Given the description of an element on the screen output the (x, y) to click on. 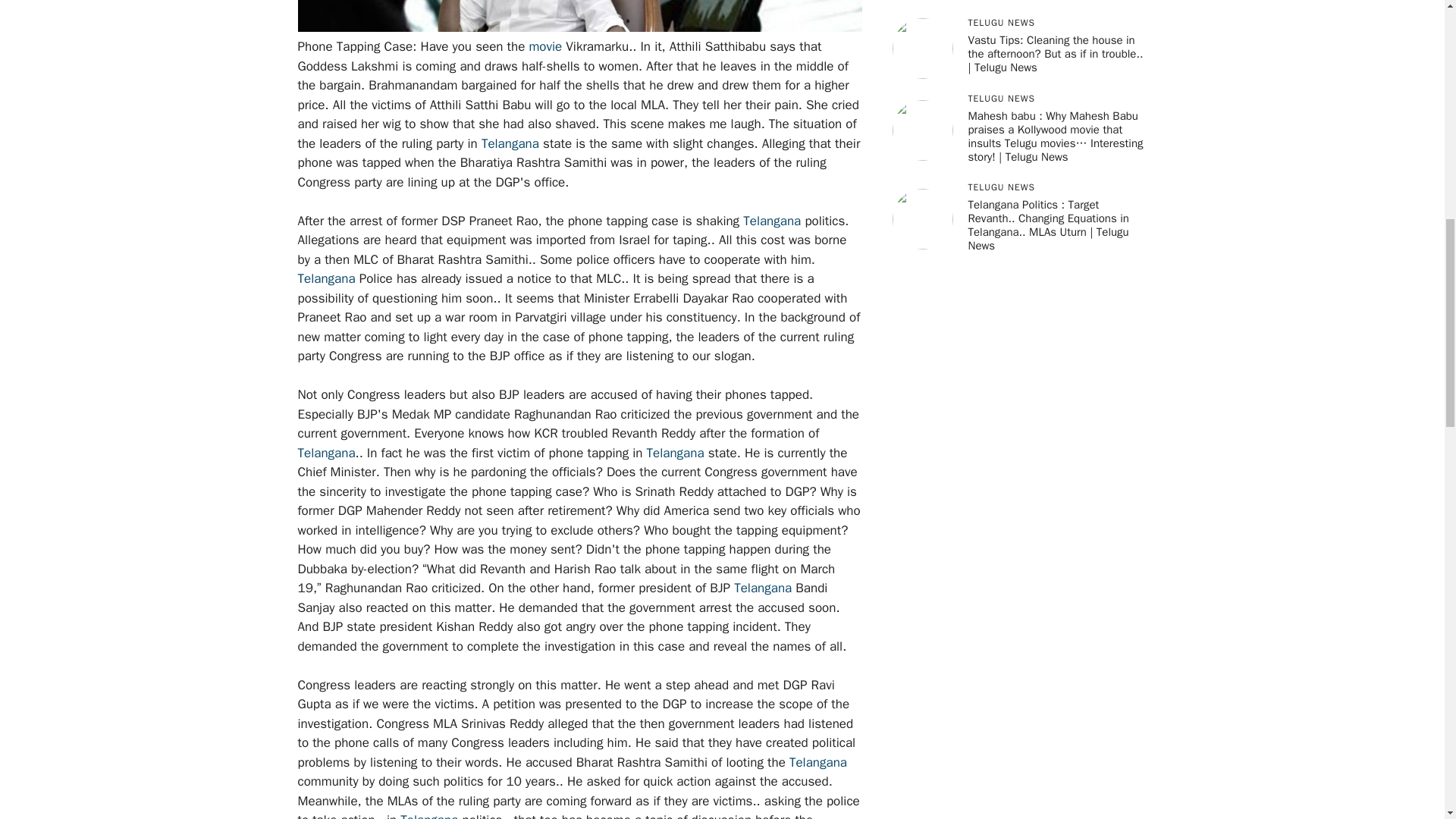
movie (545, 46)
Telangana (771, 220)
Telangana (818, 761)
Telangana (675, 452)
Telangana (326, 278)
Telangana (762, 587)
Telangana (326, 452)
Telangana (429, 815)
Telangana (509, 142)
Scroll back to top (1406, 720)
